Given the description of an element on the screen output the (x, y) to click on. 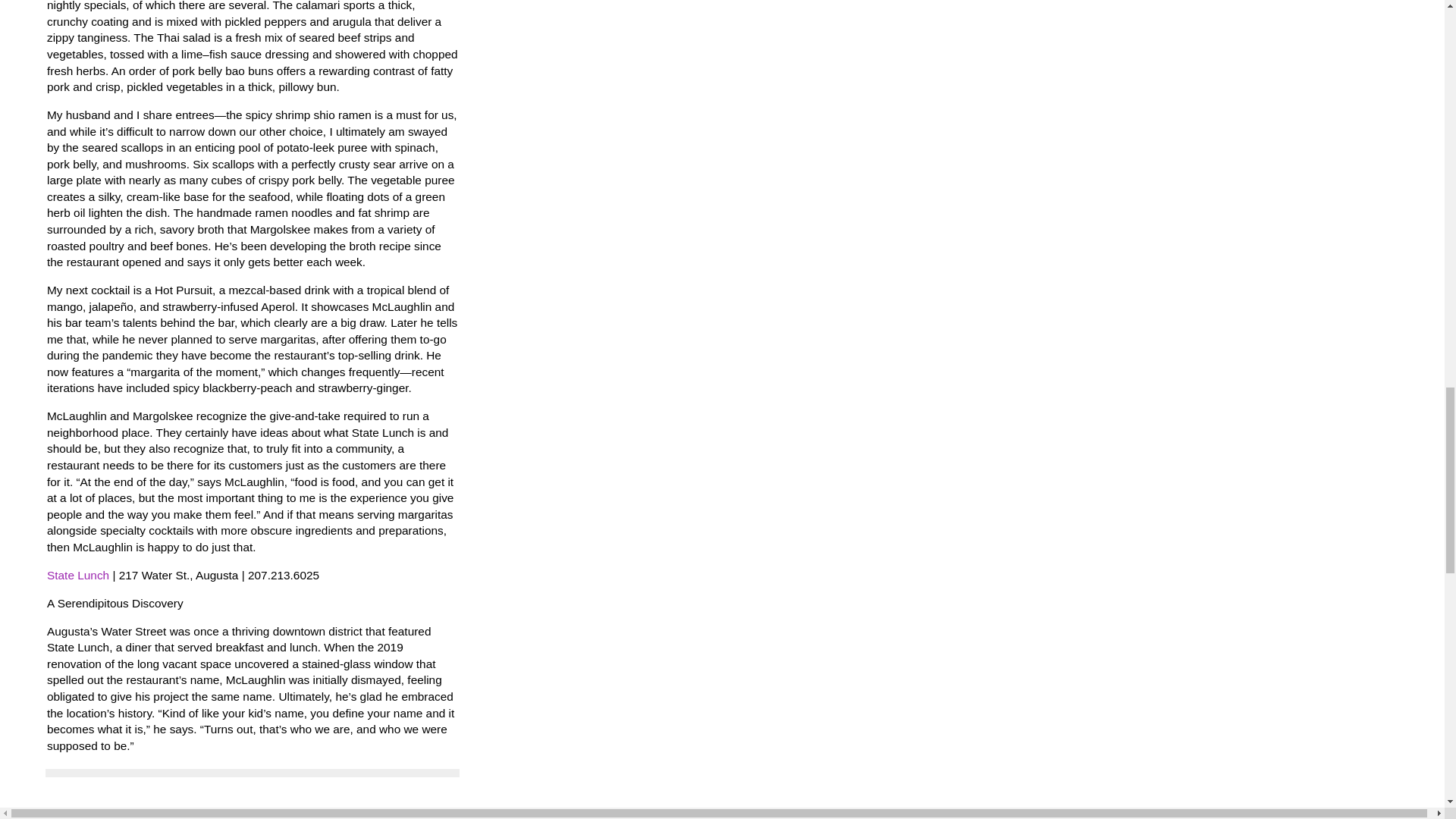
Newer Post (77, 813)
Newer Post (77, 813)
State Lunch (77, 574)
Older Post (141, 813)
Home (190, 813)
Older Post (141, 813)
